Given the description of an element on the screen output the (x, y) to click on. 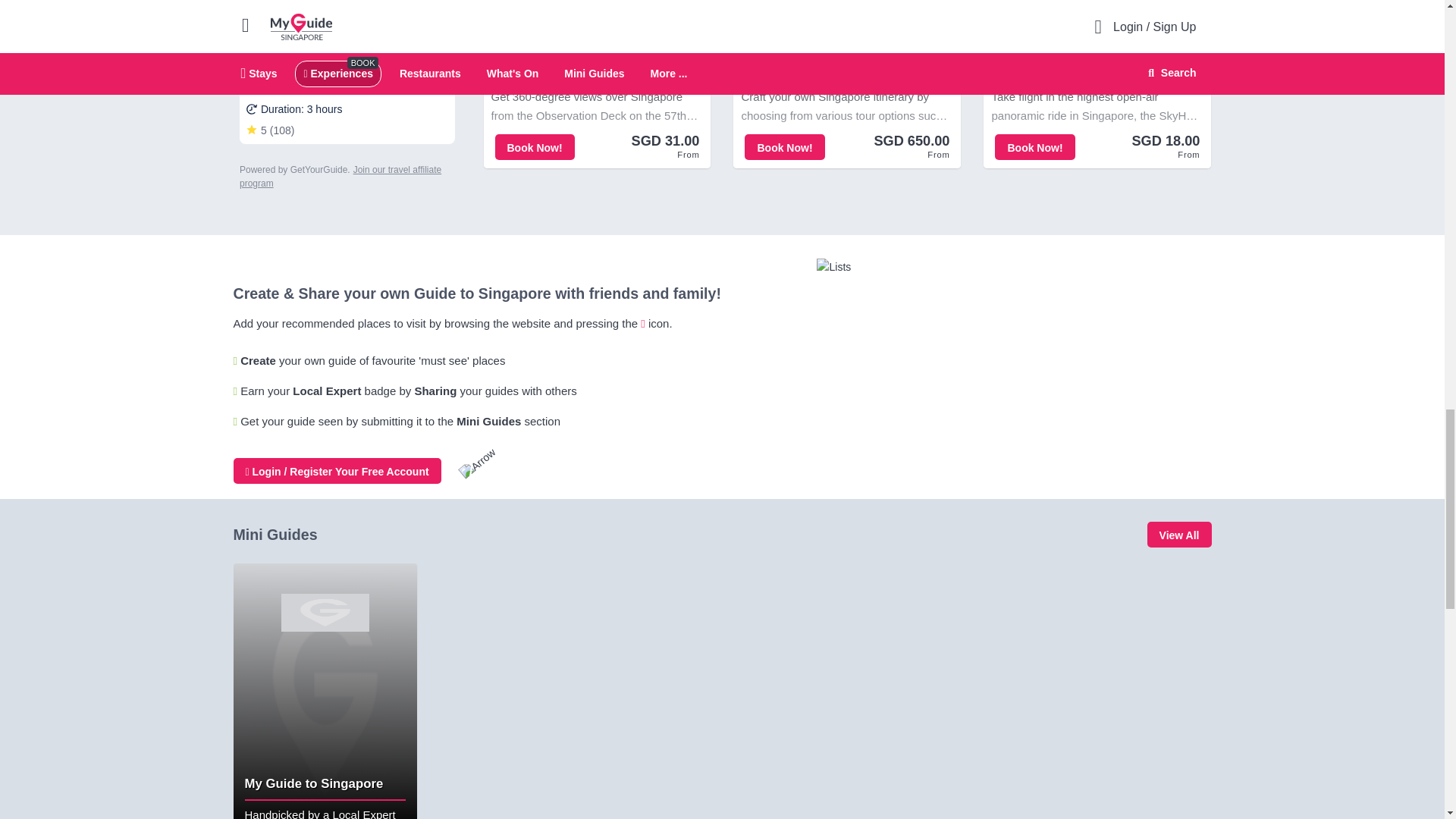
GetYourGuide Widget (346, 94)
